Given the description of an element on the screen output the (x, y) to click on. 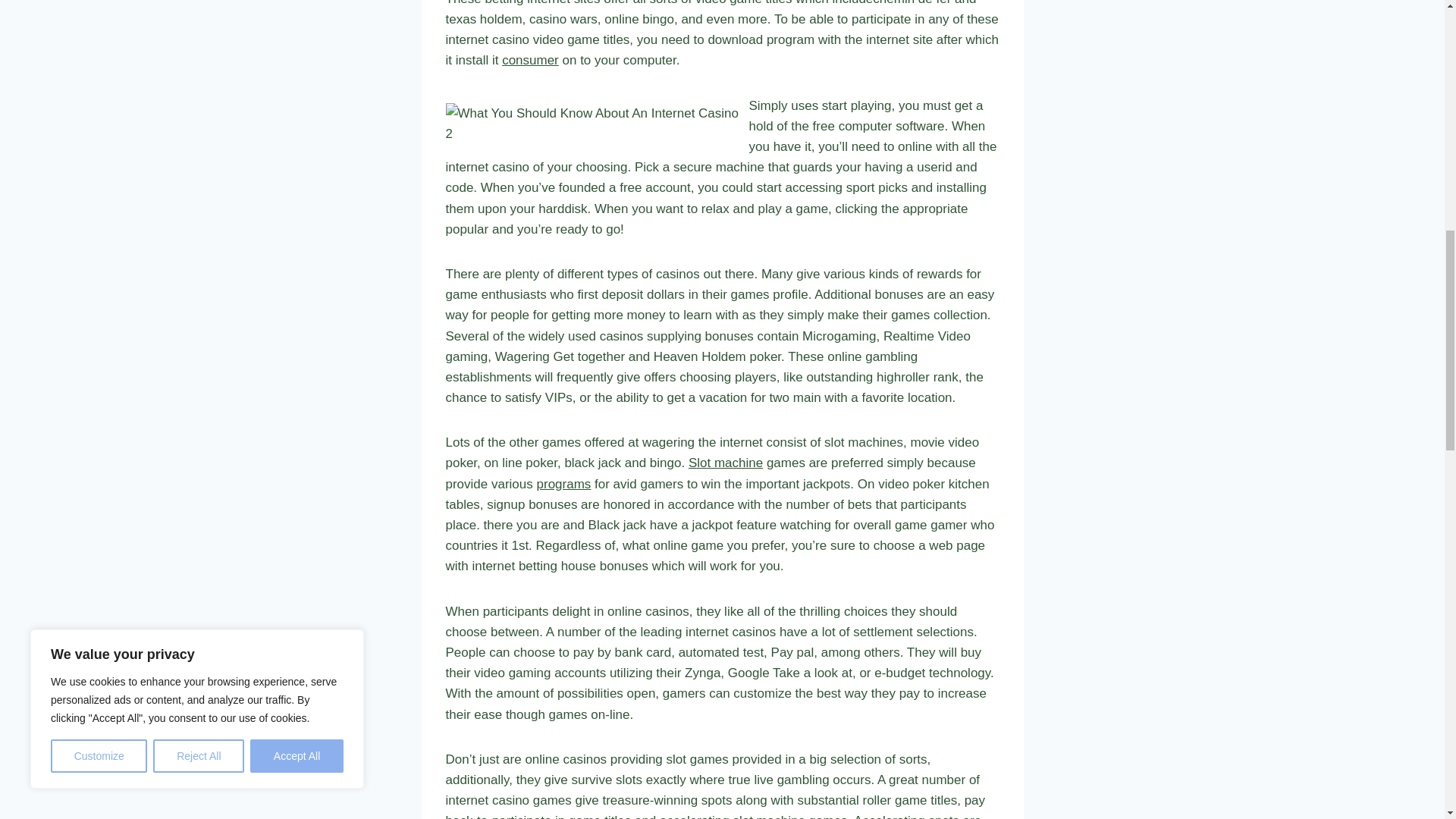
consumer (530, 60)
programs (564, 483)
Slot machine (725, 462)
